Given the description of an element on the screen output the (x, y) to click on. 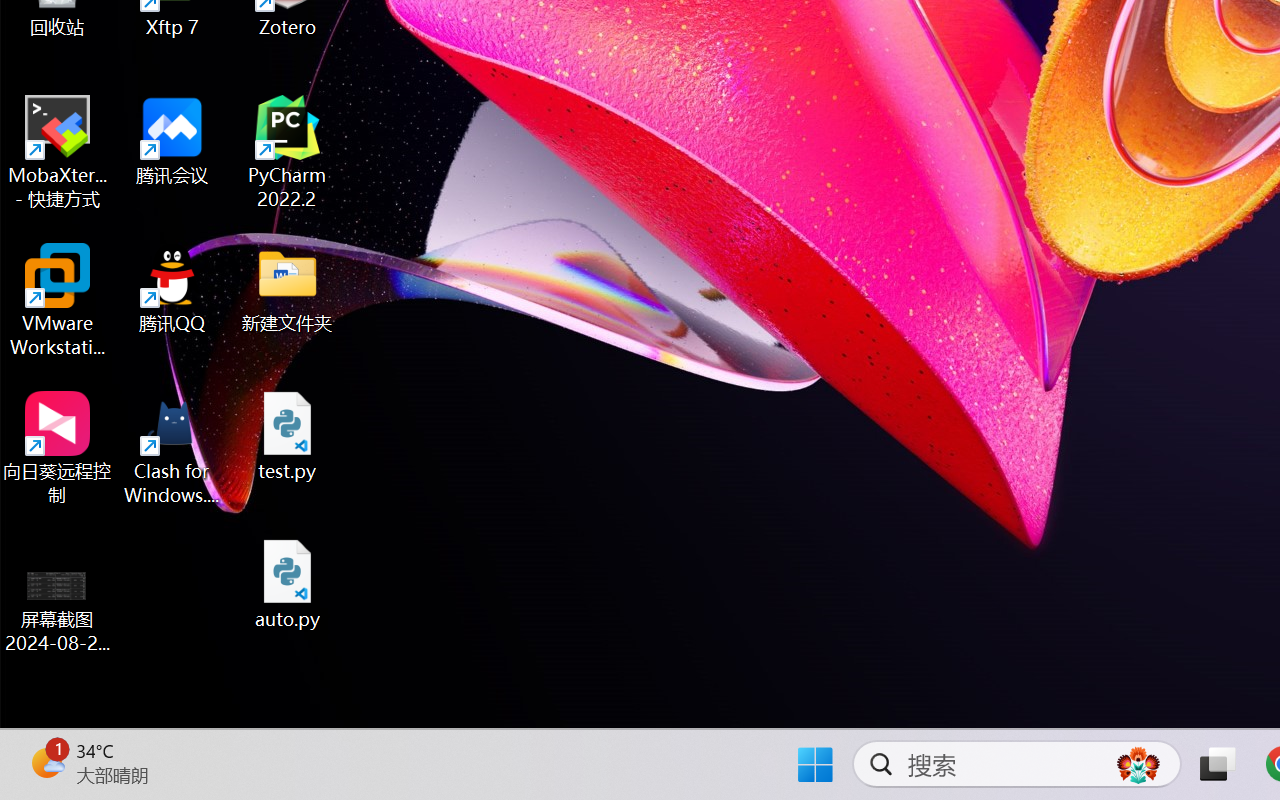
PyCharm 2022.2 (287, 152)
auto.py (287, 584)
test.py (287, 436)
